Given the description of an element on the screen output the (x, y) to click on. 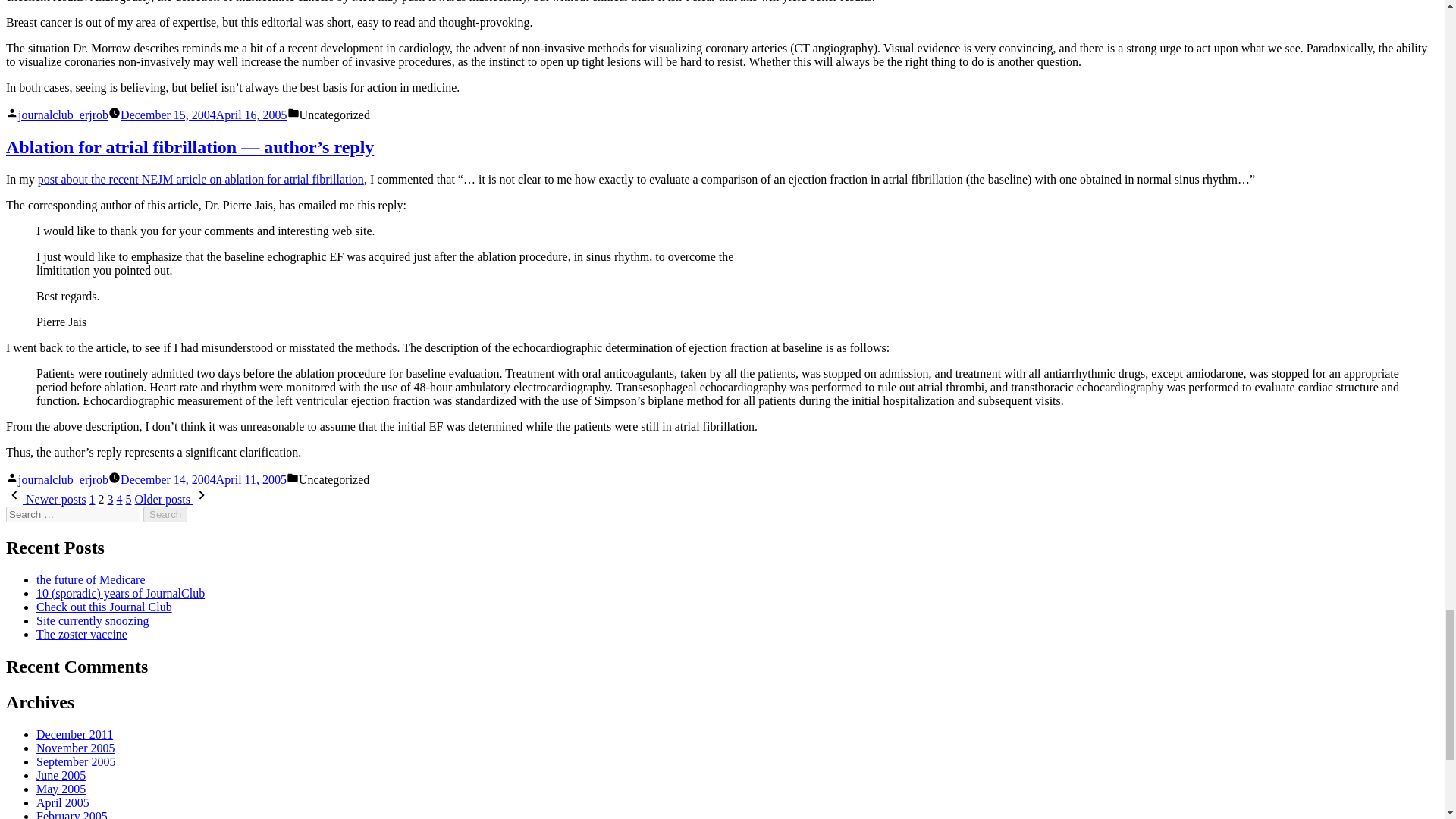
Search (164, 514)
Search (164, 514)
